Given the description of an element on the screen output the (x, y) to click on. 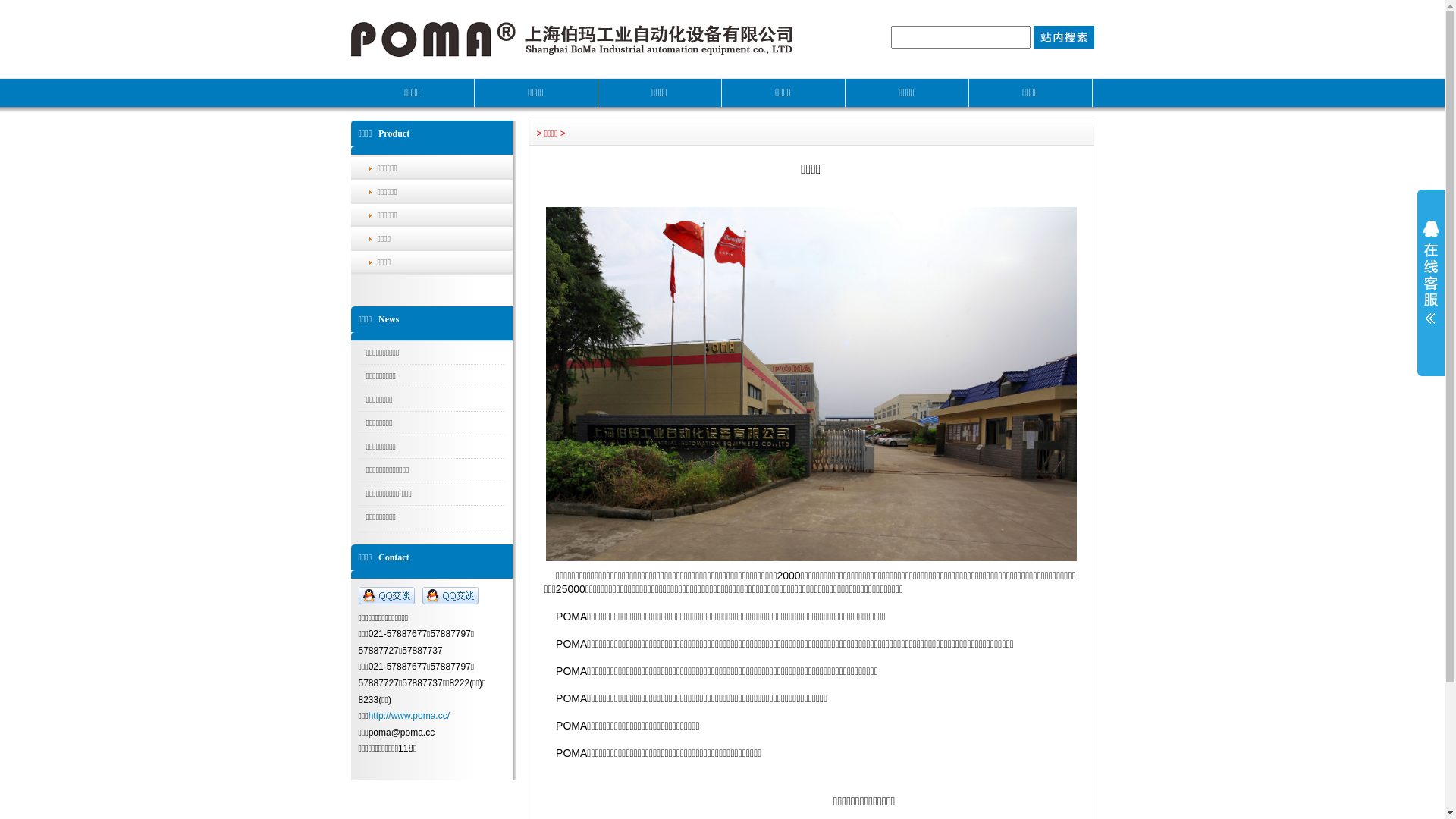
http://www.poma.cc/ Element type: text (408, 715)
